Given the description of an element on the screen output the (x, y) to click on. 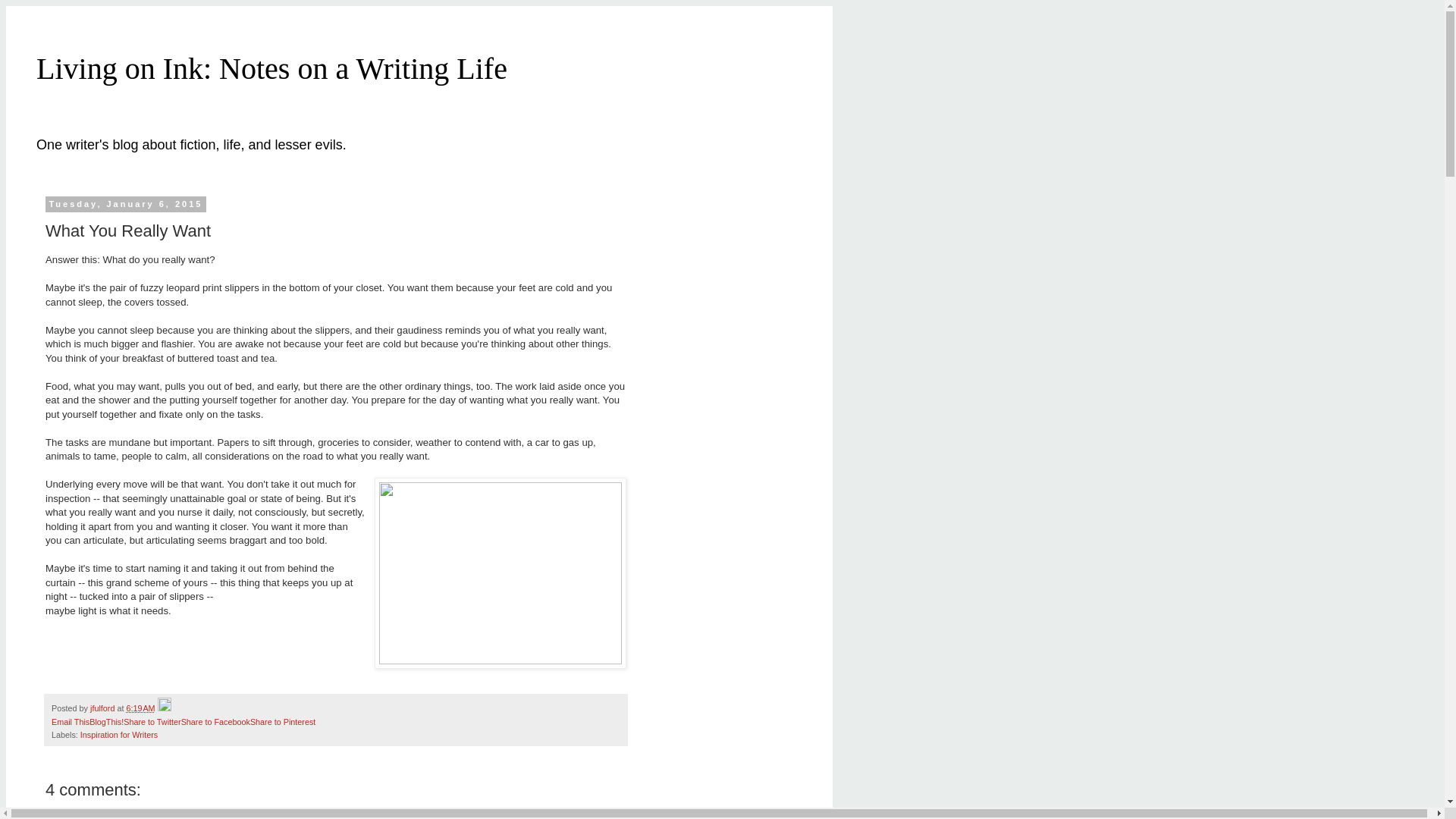
Share to Facebook (215, 721)
Inspiration for Writers (118, 734)
Living on Ink: Notes on a Writing Life (271, 68)
Share to Pinterest (282, 721)
BlogThis! (105, 721)
Share to Twitter (151, 721)
Share to Pinterest (282, 721)
permanent link (139, 707)
Edit Post (164, 707)
Share to Facebook (215, 721)
Share to Twitter (151, 721)
author profile (103, 707)
jfulford (103, 707)
Email This (69, 721)
